Given the description of an element on the screen output the (x, y) to click on. 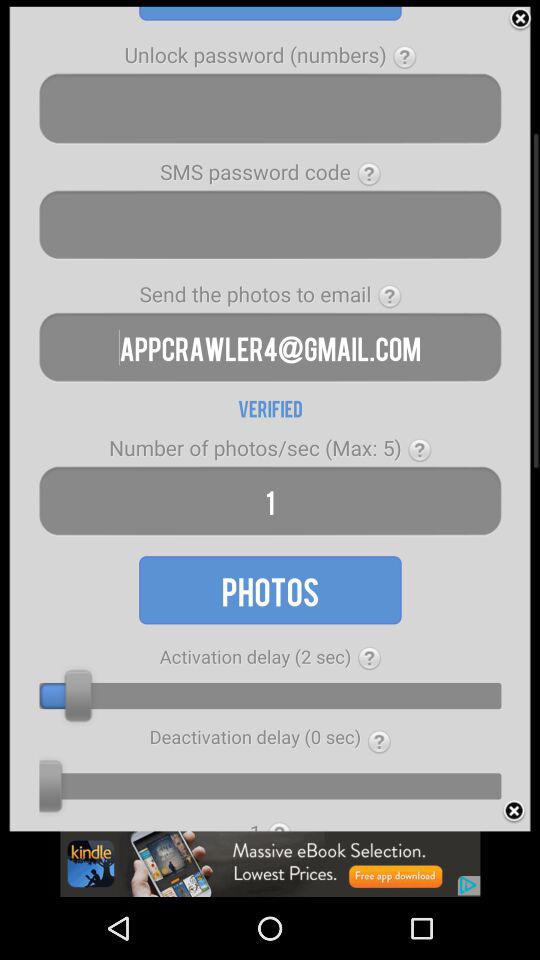
select the box below unlock password numbers (269, 108)
select the question mark icon on right side of numeric 5 (419, 449)
select the first question mark from the bottom of the page (378, 741)
click on the question mark symbol which is right to the sms password code (369, 174)
click on button 1 (269, 500)
